Given the description of an element on the screen output the (x, y) to click on. 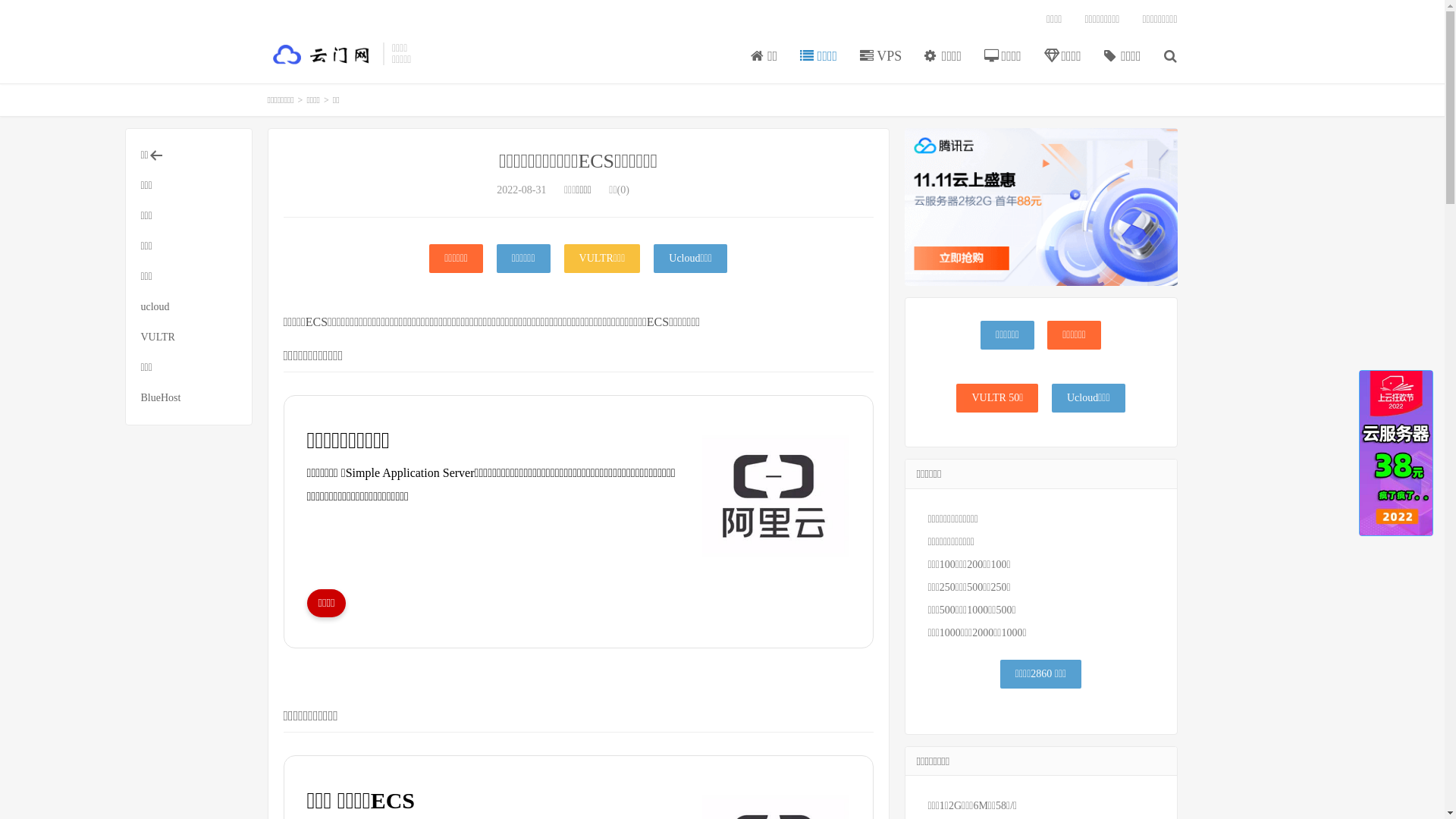
VPS Element type: text (880, 56)
VULTR Element type: text (188, 337)
ucloud Element type: text (188, 306)
BlueHost Element type: text (188, 397)
